Given the description of an element on the screen output the (x, y) to click on. 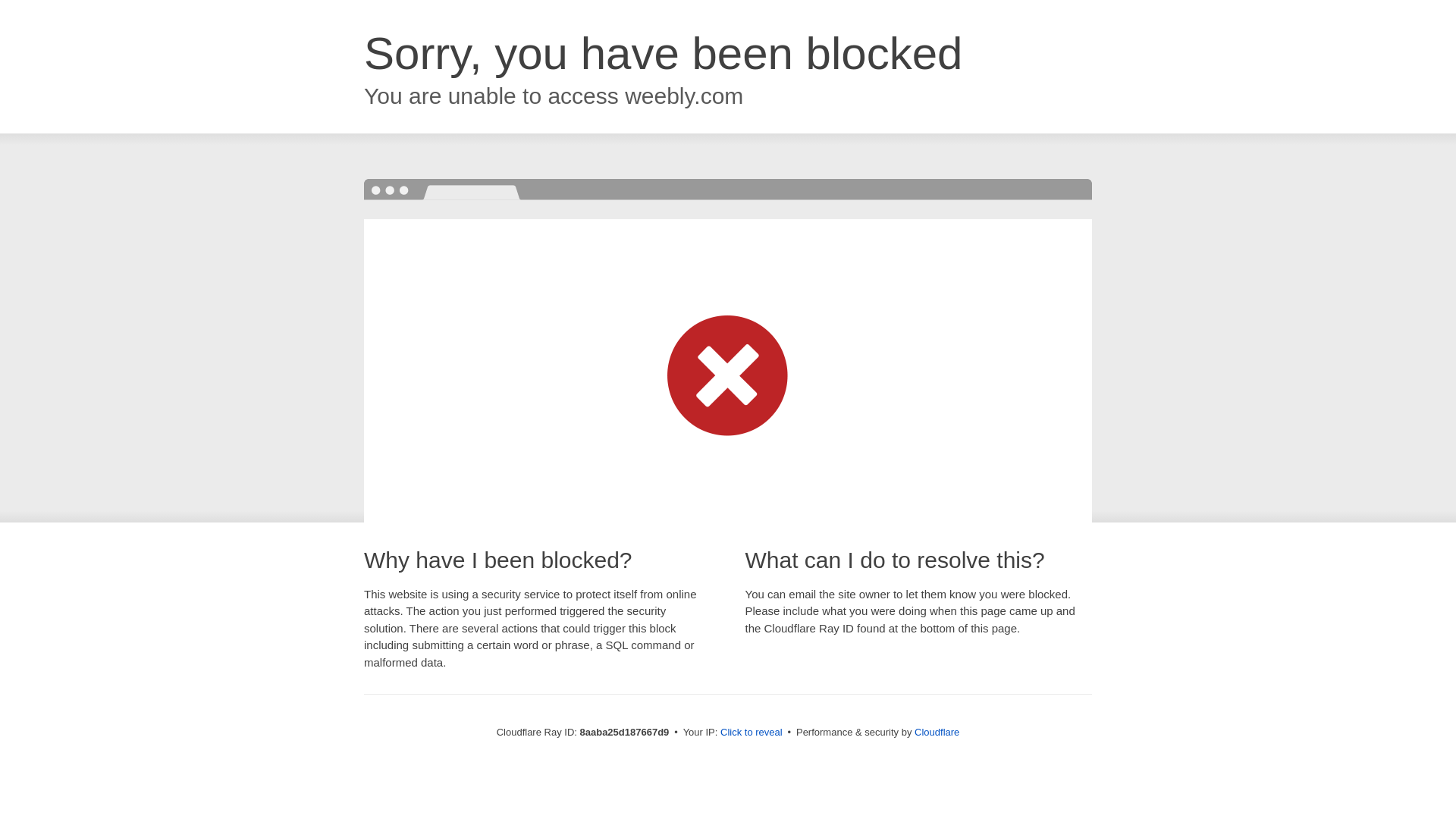
Cloudflare (936, 731)
Click to reveal (751, 732)
